Given the description of an element on the screen output the (x, y) to click on. 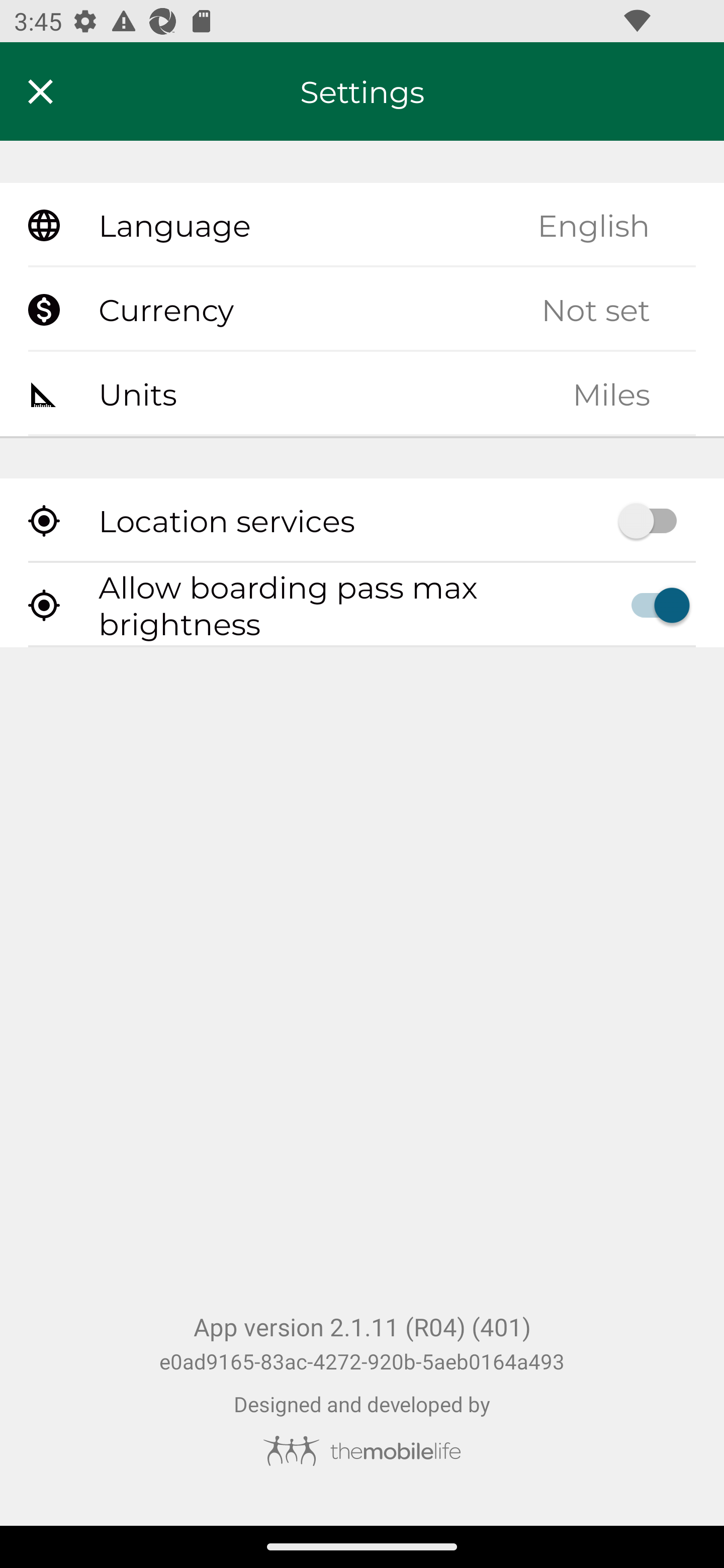
Language English (362, 225)
Currency Not set (362, 309)
Units Miles (362, 393)
Location services (362, 520)
Allow boarding pass max brightness (362, 604)
